Given the description of an element on the screen output the (x, y) to click on. 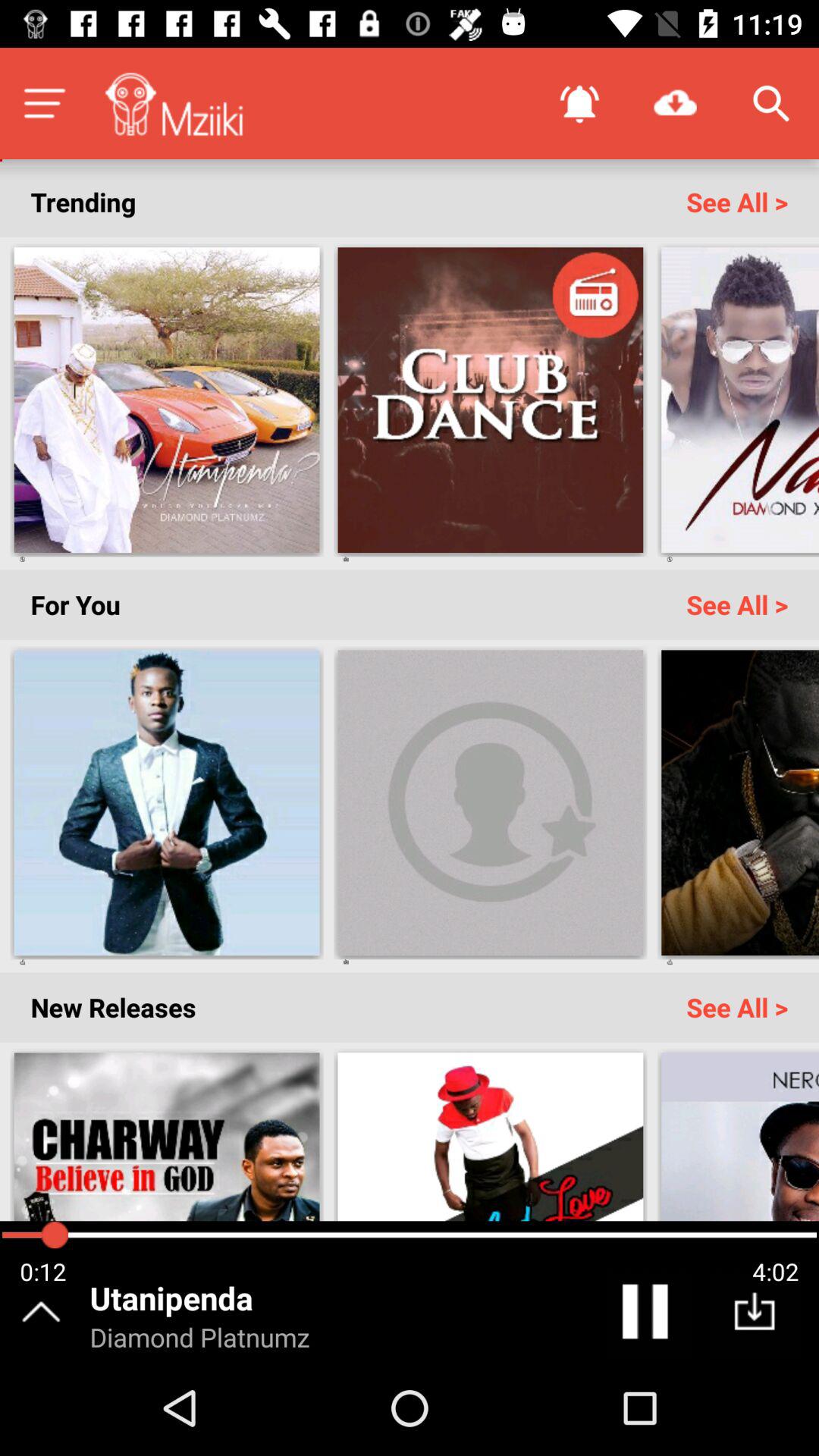
open the menu (44, 103)
